Given the description of an element on the screen output the (x, y) to click on. 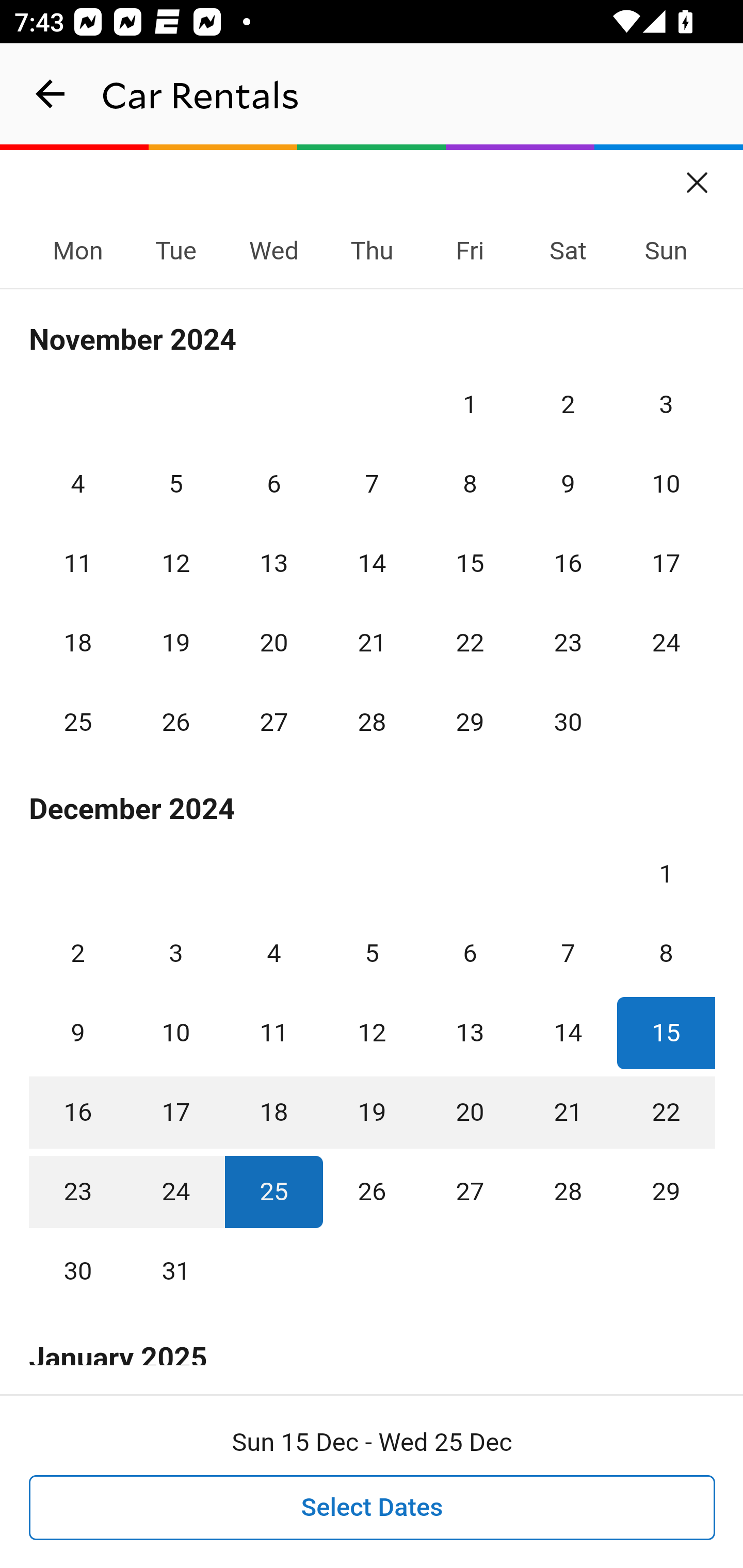
navigation_button (50, 93)
Close (697, 176)
1 November 2024 (470, 404)
2 November 2024 (567, 404)
3 November 2024 (665, 404)
4 November 2024 (77, 484)
5 November 2024 (175, 484)
6 November 2024 (273, 484)
7 November 2024 (371, 484)
8 November 2024 (470, 484)
9 November 2024 (567, 484)
10 November 2024 (665, 484)
11 November 2024 (77, 563)
12 November 2024 (175, 563)
13 November 2024 (273, 563)
14 November 2024 (371, 563)
15 November 2024 (470, 563)
16 November 2024 (567, 563)
17 November 2024 (665, 563)
18 November 2024 (77, 642)
19 November 2024 (175, 642)
20 November 2024 (273, 642)
21 November 2024 (371, 642)
22 November 2024 (470, 642)
23 November 2024 (567, 642)
24 November 2024 (665, 642)
25 November 2024 (77, 722)
26 November 2024 (175, 722)
27 November 2024 (273, 722)
28 November 2024 (371, 722)
29 November 2024 (470, 722)
30 November 2024 (567, 722)
1 December 2024 (665, 873)
2 December 2024 (77, 952)
3 December 2024 (175, 952)
4 December 2024 (273, 952)
5 December 2024 (371, 952)
6 December 2024 (470, 952)
7 December 2024 (567, 952)
8 December 2024 (665, 952)
9 December 2024 (77, 1032)
10 December 2024 (175, 1032)
11 December 2024 (273, 1032)
12 December 2024 (371, 1032)
13 December 2024 (470, 1032)
14 December 2024 (567, 1032)
15 December 2024 (665, 1032)
16 December 2024 (77, 1112)
17 December 2024 (175, 1112)
18 December 2024 (273, 1112)
